Given the description of an element on the screen output the (x, y) to click on. 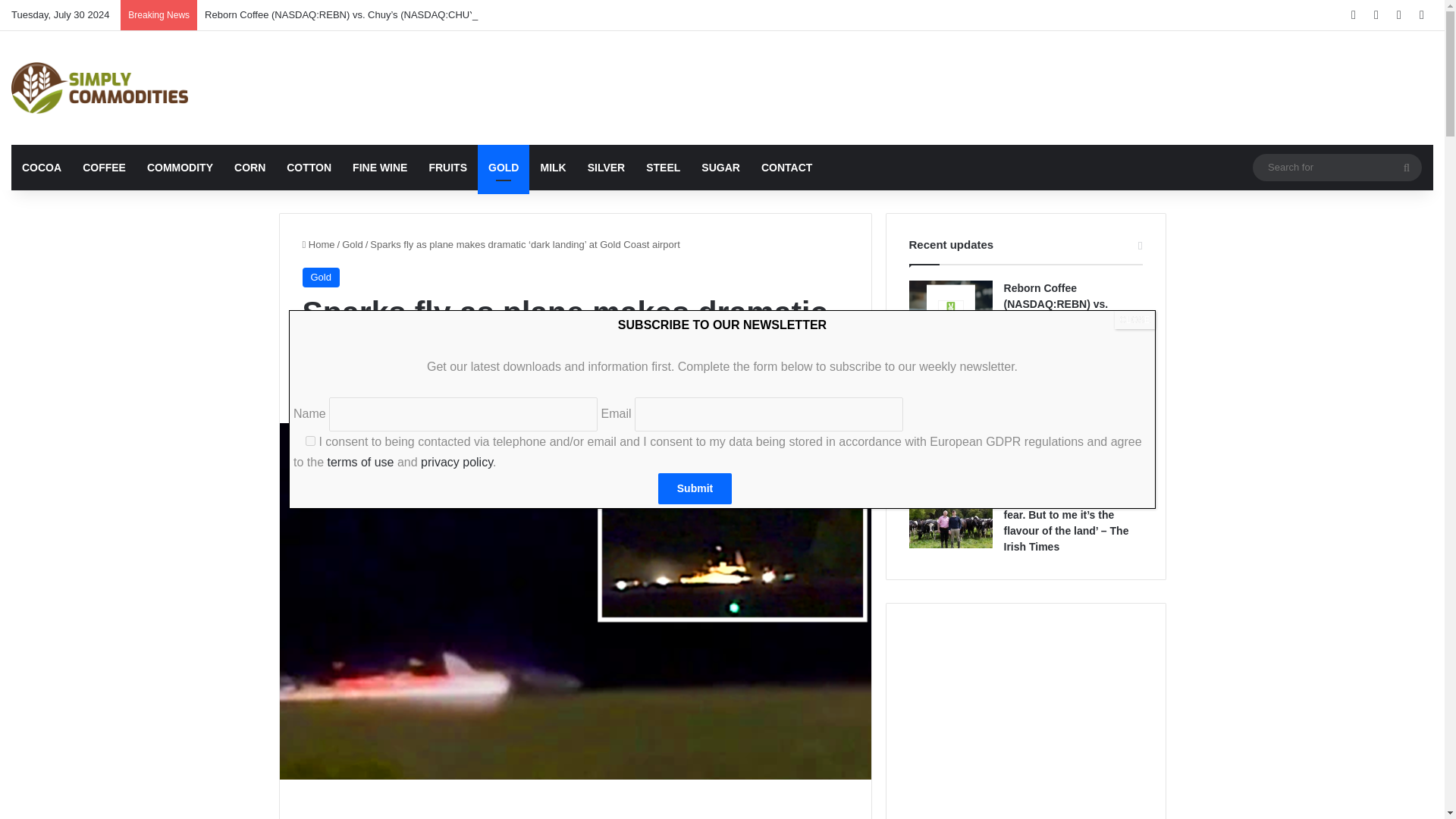
Simply Commodities (99, 87)
COTTON (309, 167)
FRUITS (447, 167)
SUGAR (720, 167)
Search for (1337, 167)
CONTACT (786, 167)
Gold (320, 277)
SILVER (606, 167)
1 (310, 440)
COCOA (41, 167)
COMMODITY (180, 167)
Submit (695, 488)
Gold (352, 244)
MILK (552, 167)
FINE WINE (379, 167)
